Given the description of an element on the screen output the (x, y) to click on. 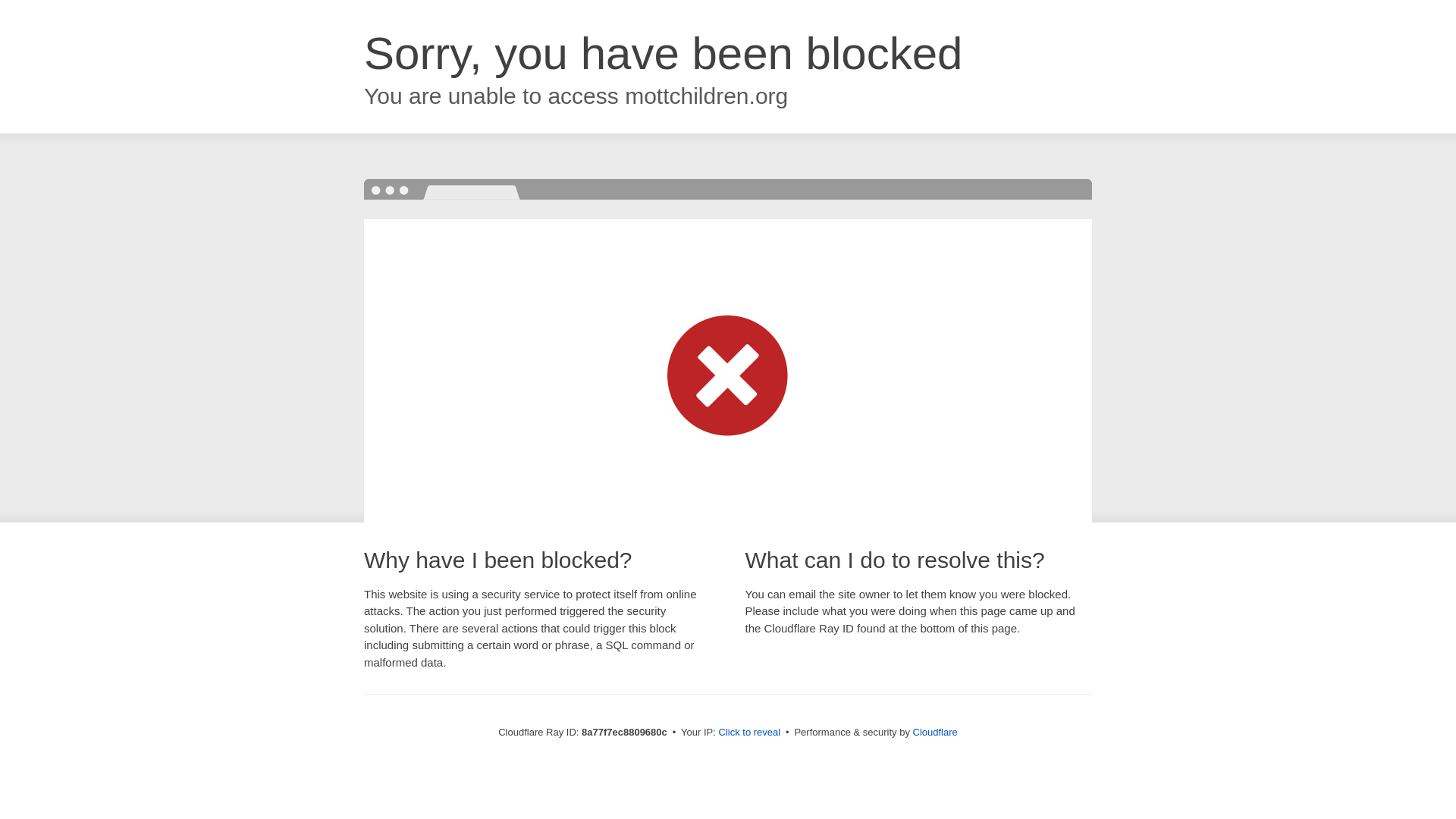
Cloudflare (935, 731)
Click to reveal (749, 732)
